Given the description of an element on the screen output the (x, y) to click on. 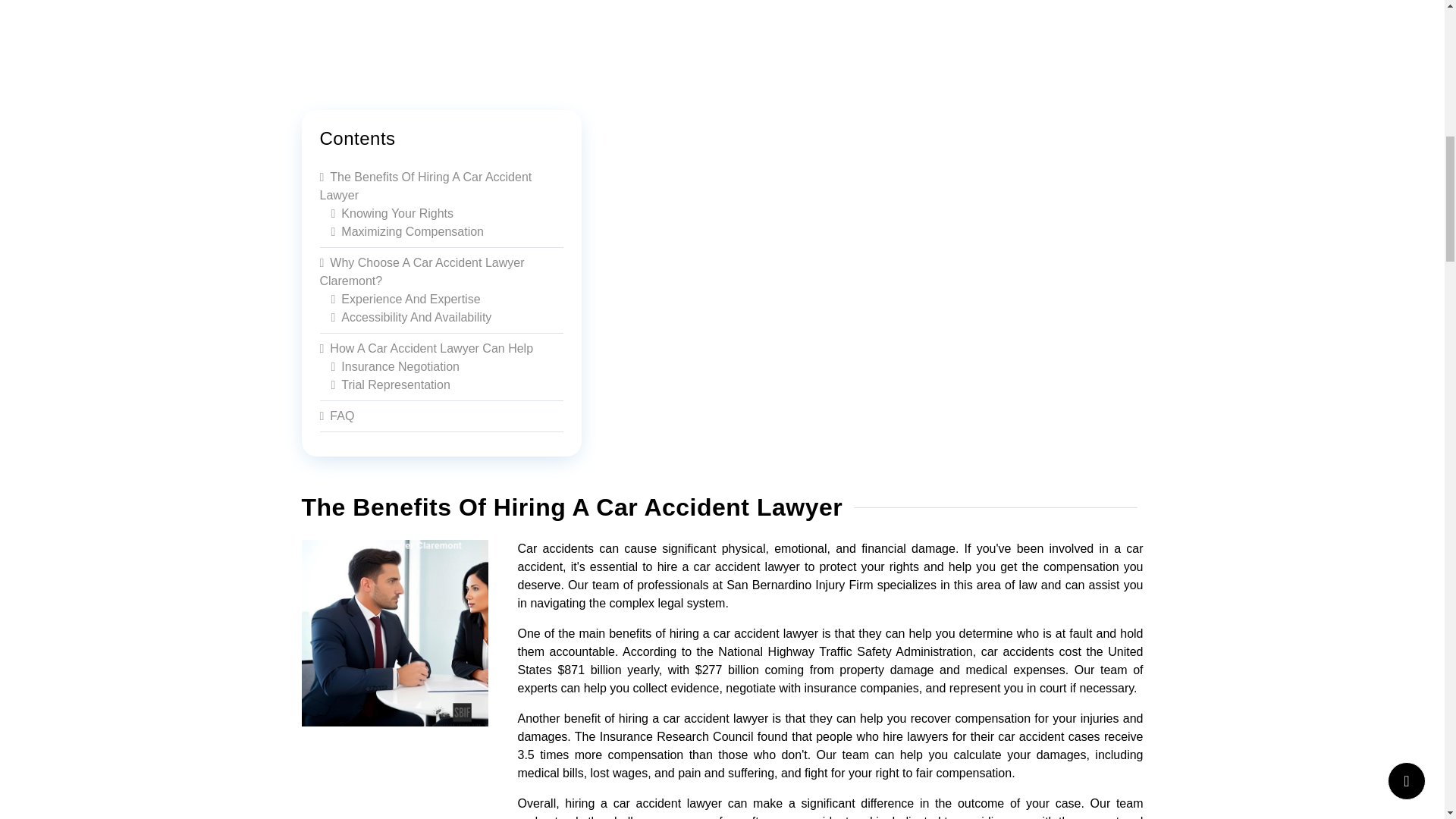
Trial Representation (389, 384)
Insurance Negotiation (395, 366)
FAQ (337, 415)
Experience And Expertise (405, 298)
Knowing Your Rights (391, 213)
Accessibility And Availability (411, 317)
The Benefits Of Hiring A Car Accident Lawyer (426, 185)
Why Choose A Car Accident Lawyer Claremont? (422, 271)
How A Car Accident Lawyer Can Help (427, 348)
Maximizing Compensation (406, 231)
